Given the description of an element on the screen output the (x, y) to click on. 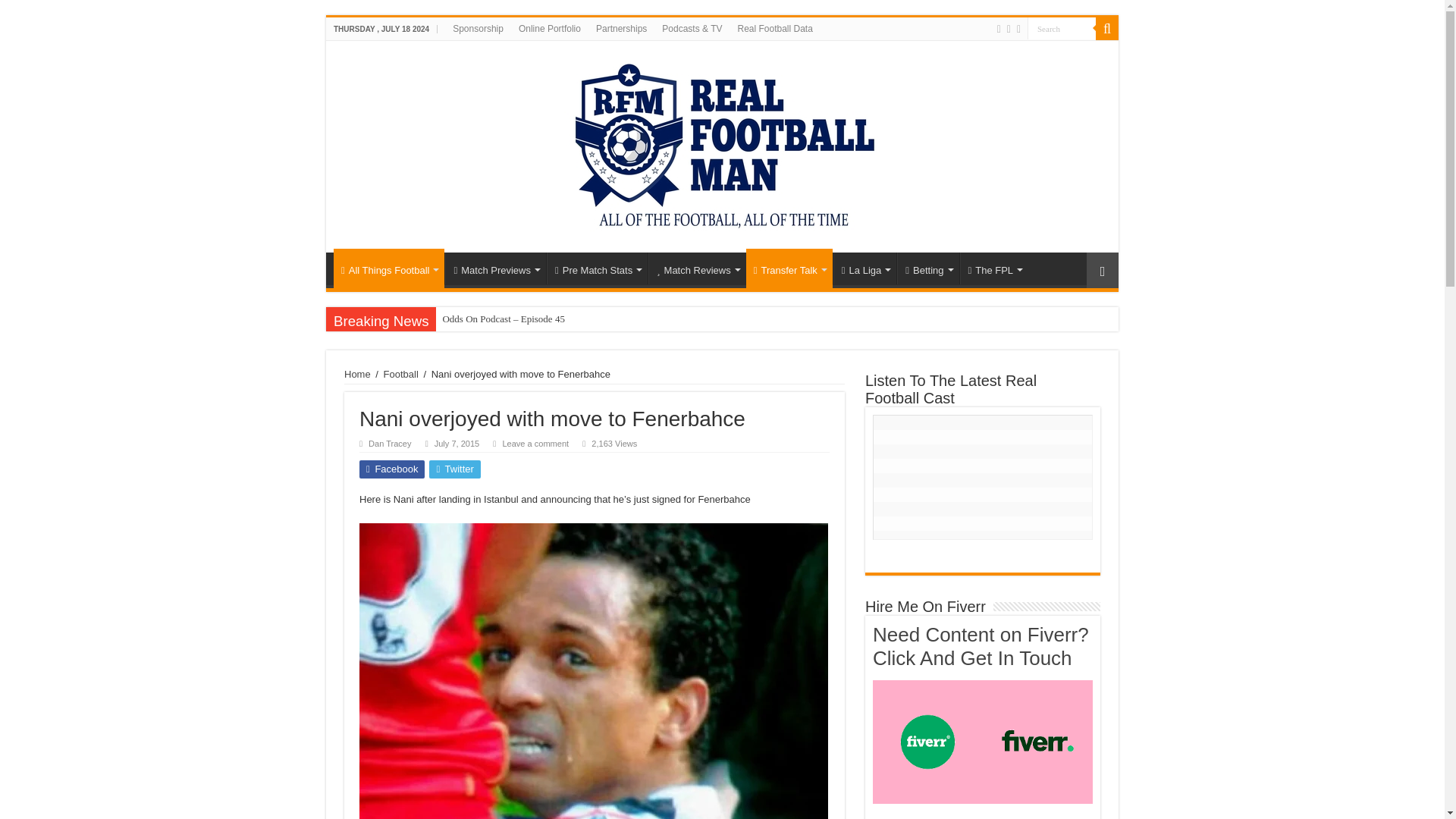
Match Previews (495, 268)
Search (1107, 28)
Search (1061, 28)
Online Portfolio (549, 28)
Facebook (1008, 29)
Partnerships (620, 28)
Sponsorship (478, 28)
Real Football Man (722, 144)
Twitter (1018, 29)
Rss (999, 29)
Real Football Data (774, 28)
Search (1061, 28)
All Things Football (388, 268)
Search (1061, 28)
